Given the description of an element on the screen output the (x, y) to click on. 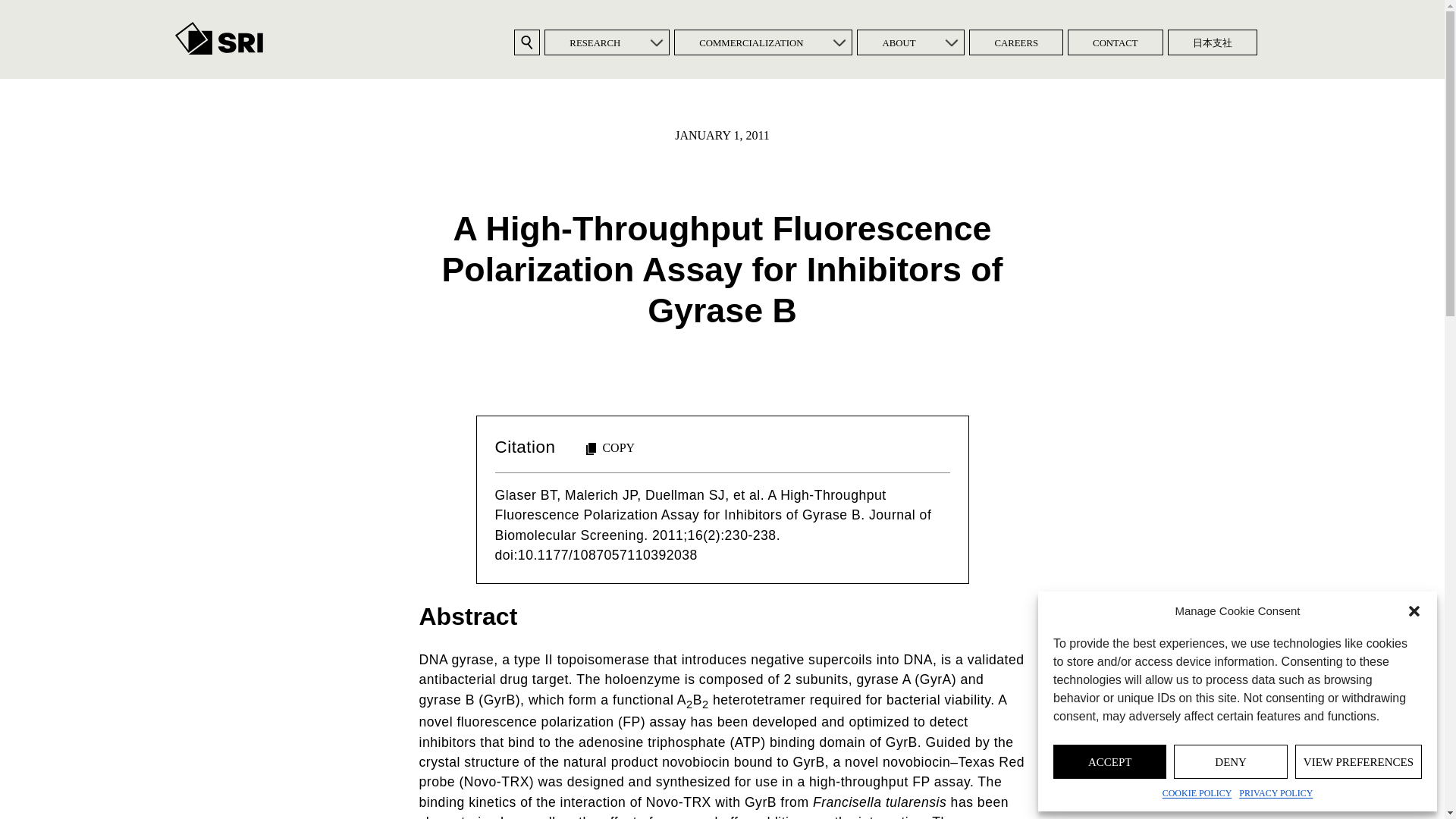
ACCEPT (1109, 761)
DENY (1230, 761)
COOKIE POLICY (1196, 793)
RESEARCH (594, 42)
ABOUT (898, 42)
COMMERCIALIZATION (751, 42)
Subscribe (622, 460)
PRIVACY POLICY (1276, 793)
CAREERS (1015, 42)
VIEW PREFERENCES (1358, 761)
CONTACT (1114, 42)
